Given the description of an element on the screen output the (x, y) to click on. 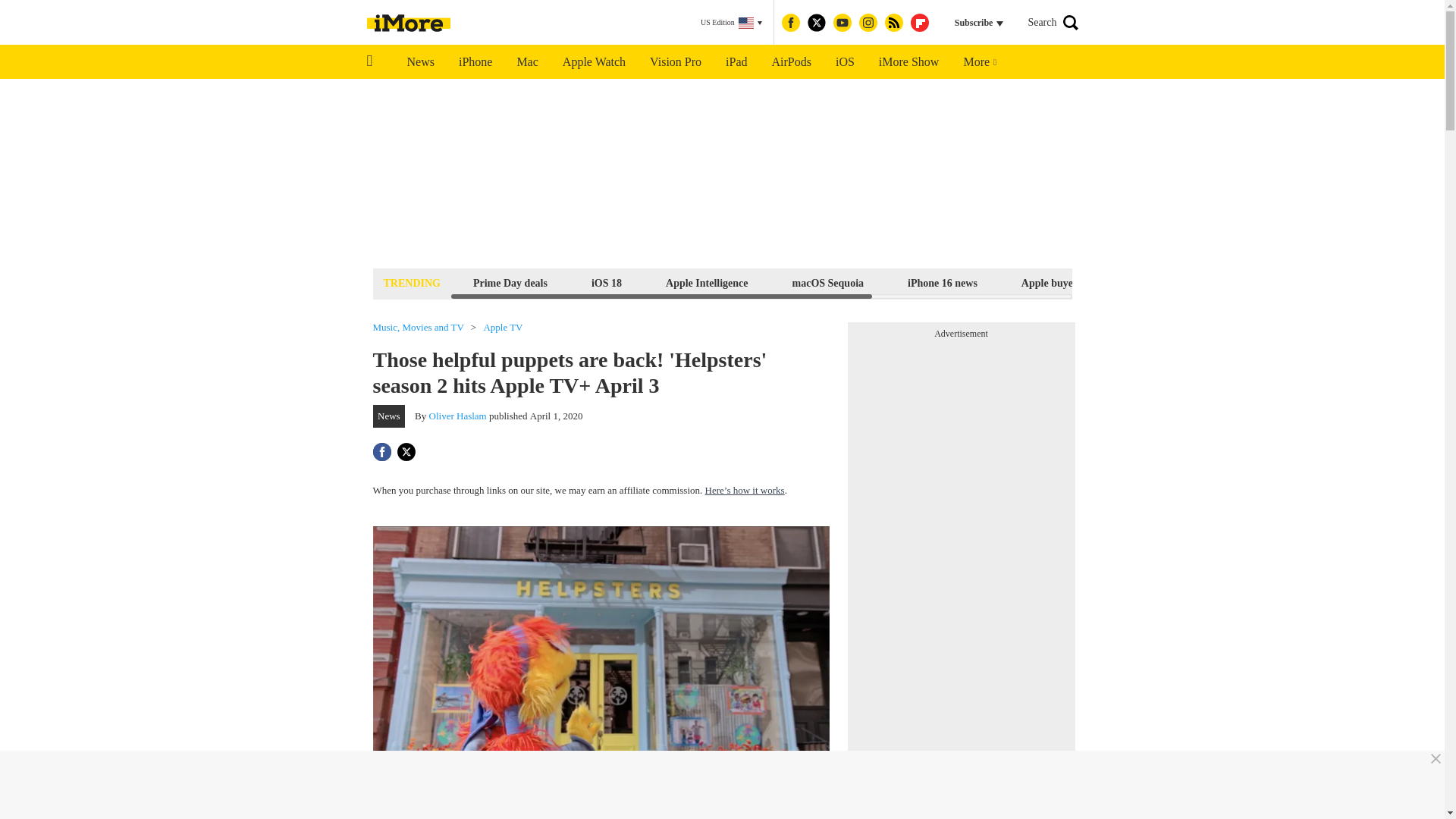
iPad (735, 61)
iPhone (474, 61)
iOS (845, 61)
US Edition (731, 22)
iMore Show (909, 61)
Vision Pro (675, 61)
Apple Watch (593, 61)
Mac (526, 61)
News (419, 61)
AirPods (792, 61)
